Given the description of an element on the screen output the (x, y) to click on. 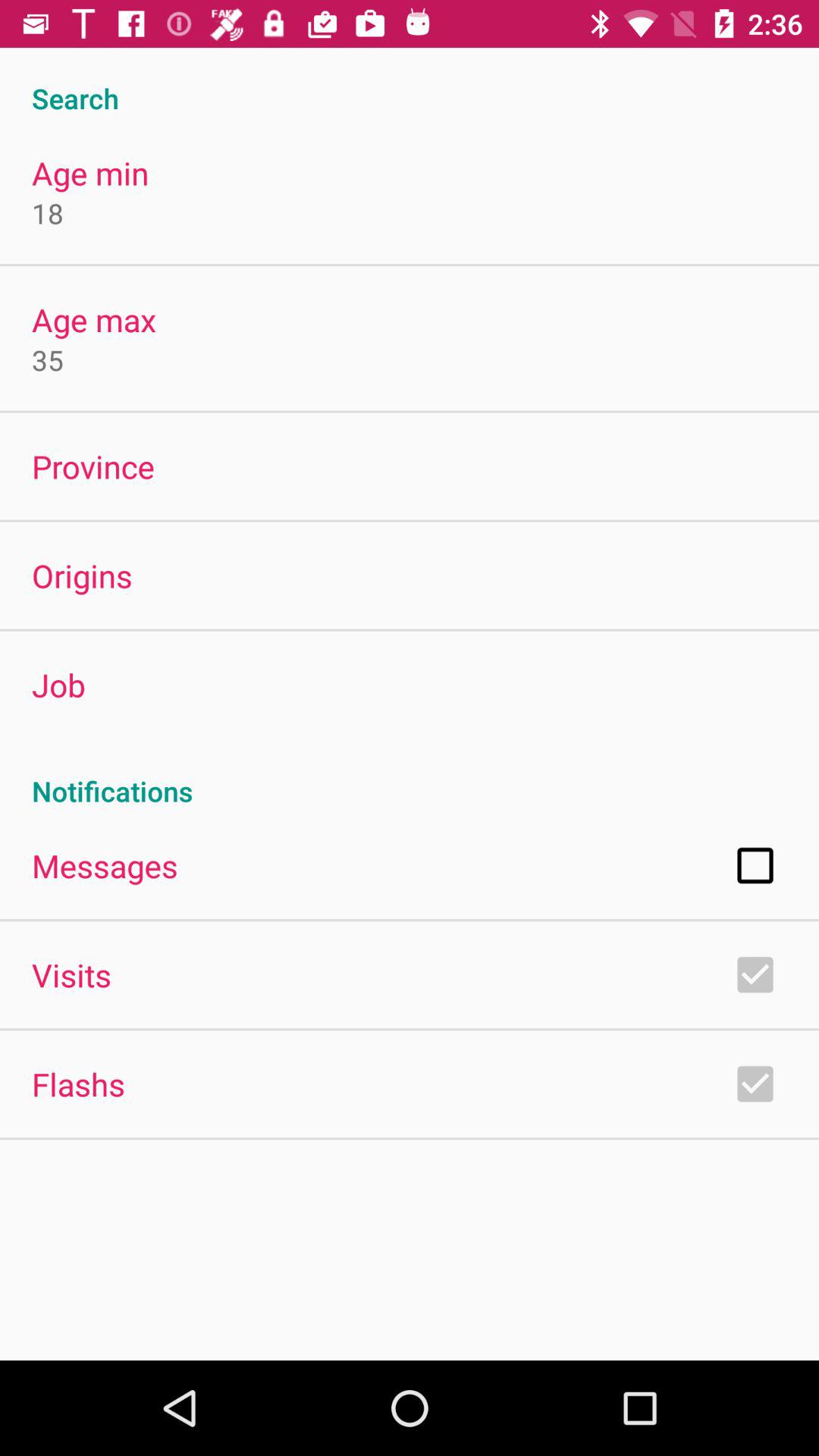
swipe to origins app (81, 575)
